Given the description of an element on the screen output the (x, y) to click on. 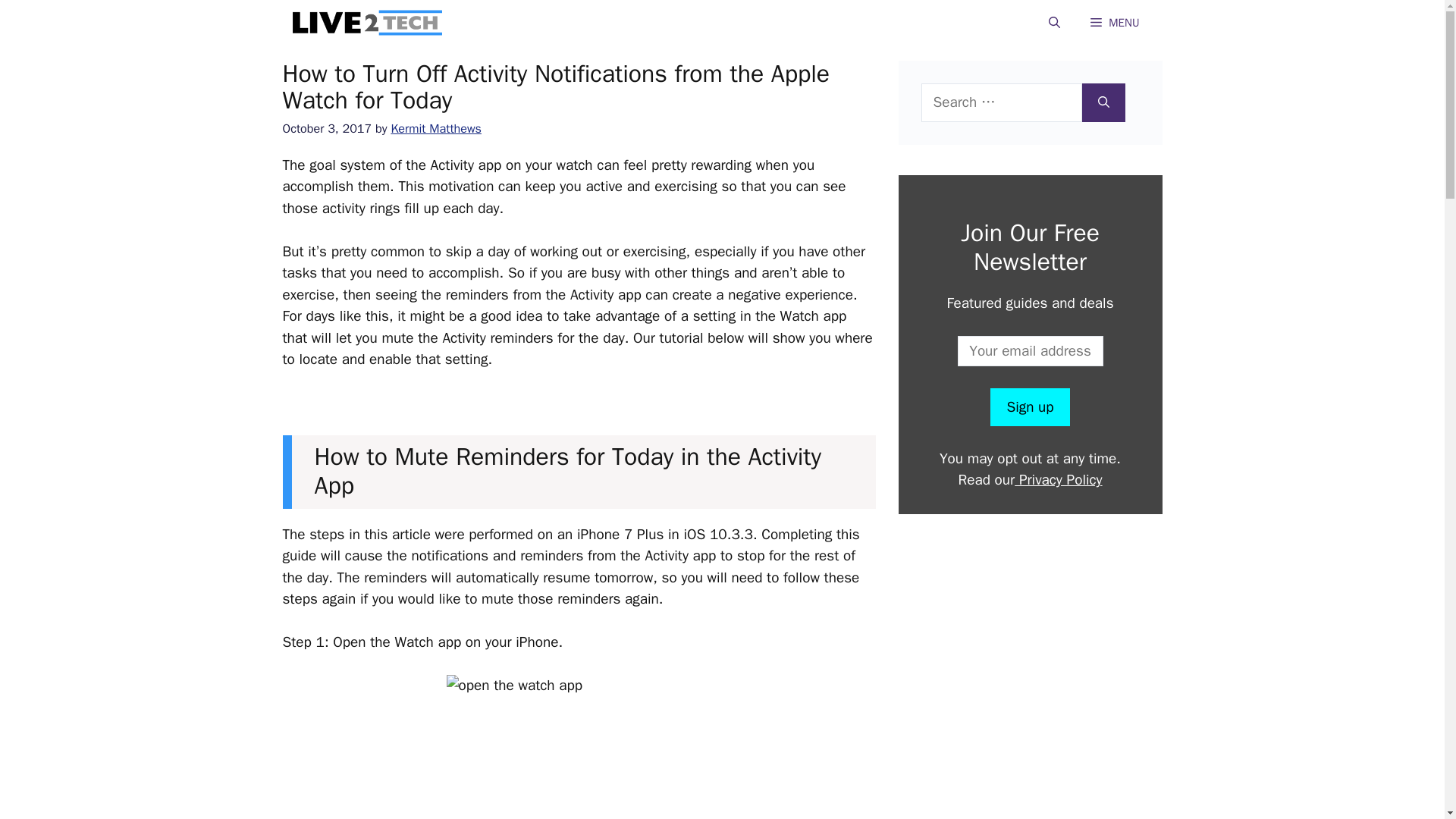
Kermit Matthews (435, 128)
View all posts by Kermit Matthews (435, 128)
Sign up (1029, 407)
MENU (1114, 22)
Live2Tech (365, 22)
